Given the description of an element on the screen output the (x, y) to click on. 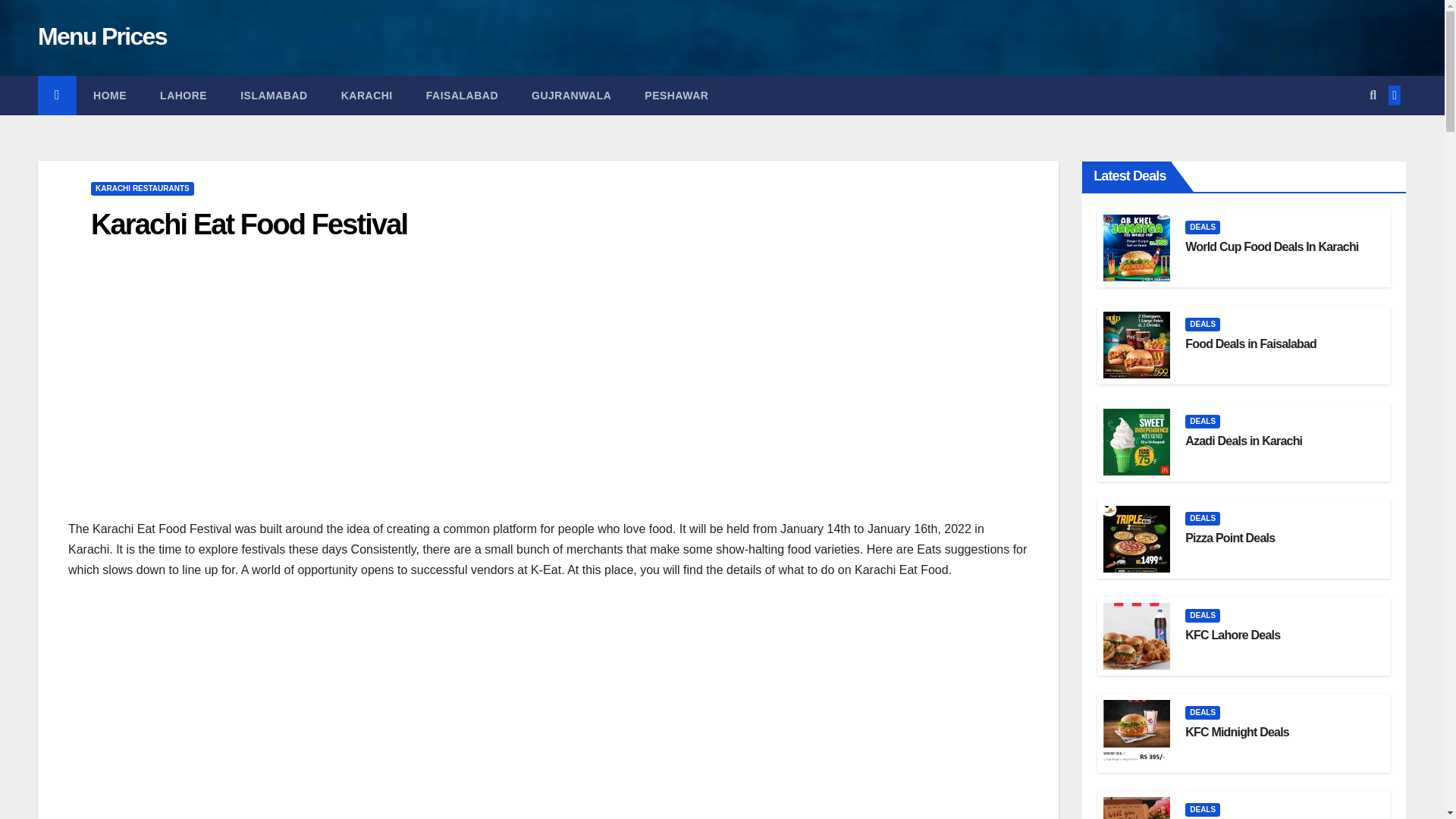
GUJRANWALA (571, 95)
Islamabad (274, 95)
KARACHI RESTAURANTS (141, 188)
Karachi Eat Food Festival (248, 224)
FAISALABAD (462, 95)
Gujranwala (571, 95)
Home (109, 95)
Lahore (183, 95)
PESHAWAR (676, 95)
KARACHI (366, 95)
Peshawar (676, 95)
HOME (109, 95)
Permalink to: Karachi Eat Food Festival (248, 224)
